Given the description of an element on the screen output the (x, y) to click on. 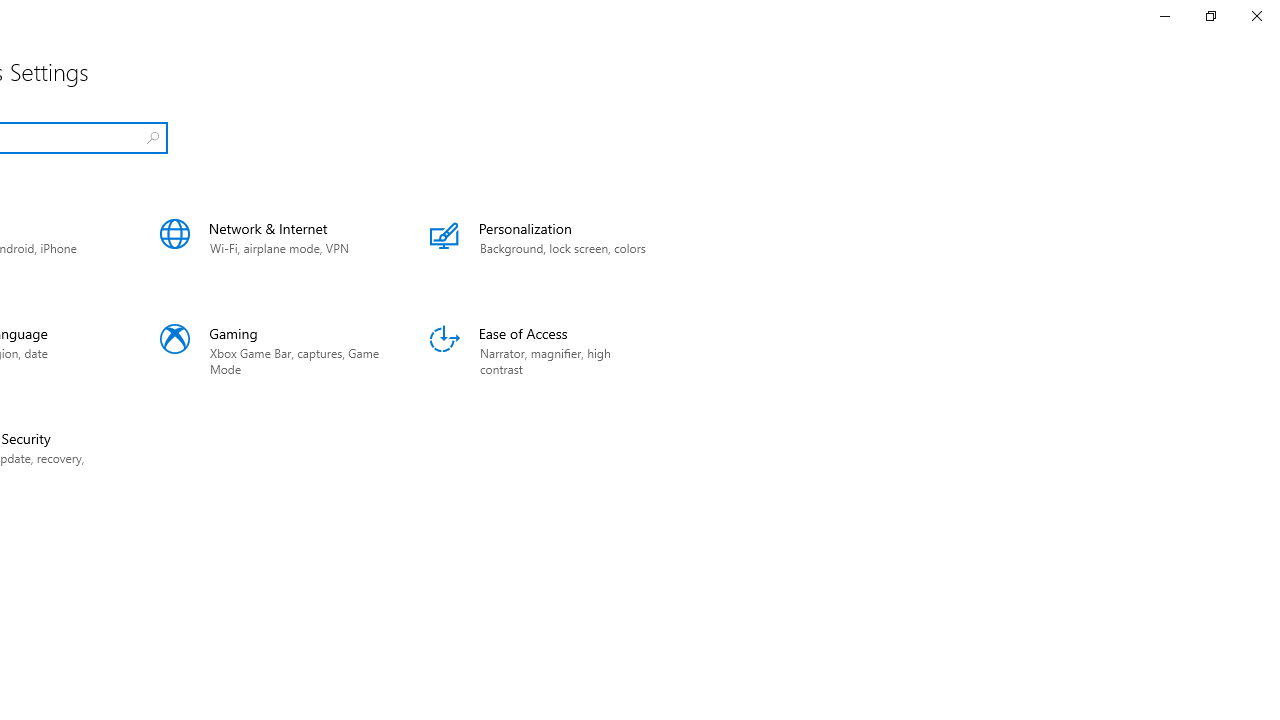
Close Settings (1256, 15)
Personalization (539, 245)
Minimize Settings (1164, 15)
Gaming (269, 350)
Restore Settings (1210, 15)
Ease of Access (539, 350)
Network & Internet (269, 245)
